Given the description of an element on the screen output the (x, y) to click on. 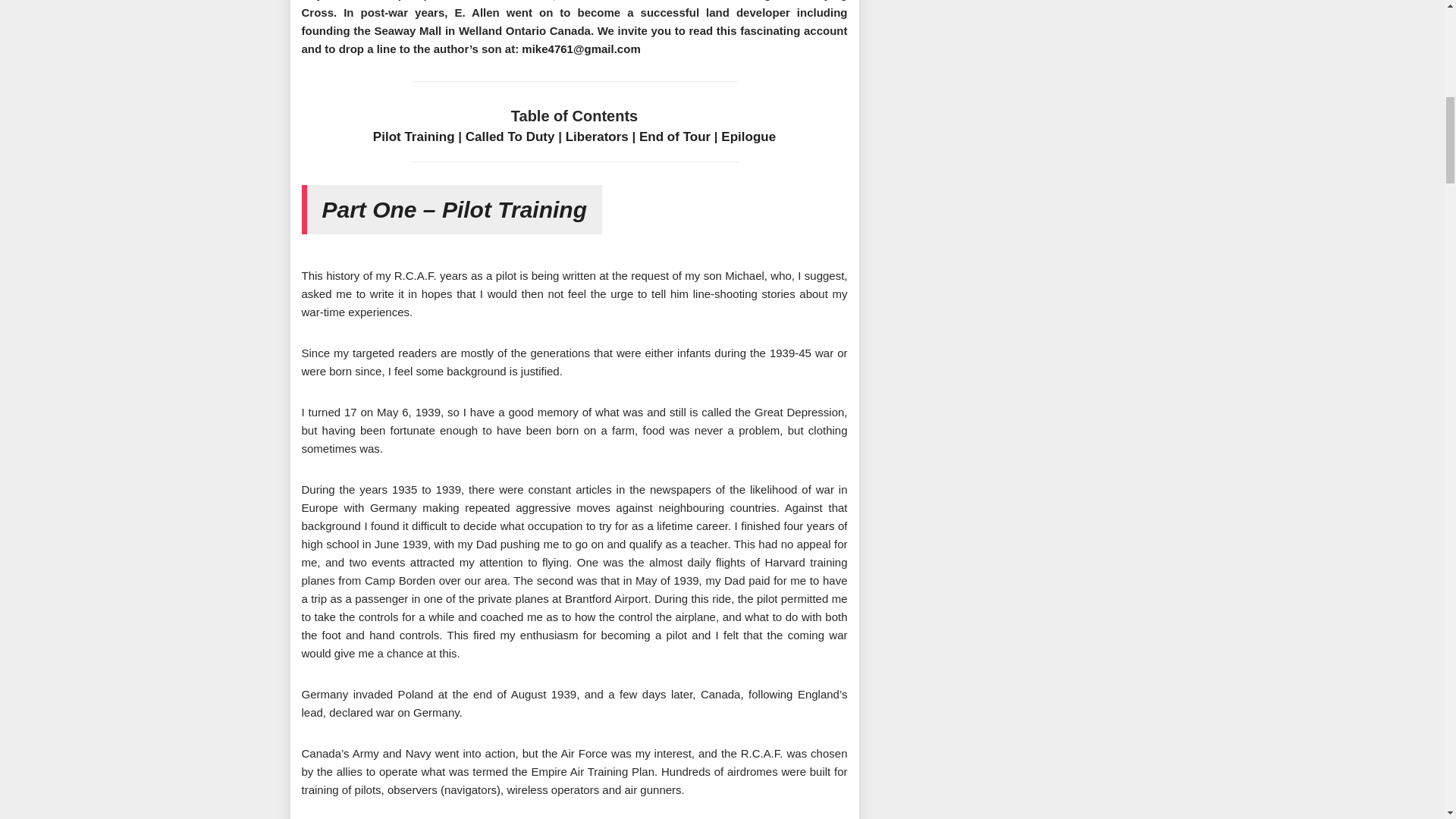
Epilogue (748, 136)
Called To Duty (509, 136)
Liberators (597, 136)
Pilot Training (413, 136)
End of Tour (674, 136)
